Given the description of an element on the screen output the (x, y) to click on. 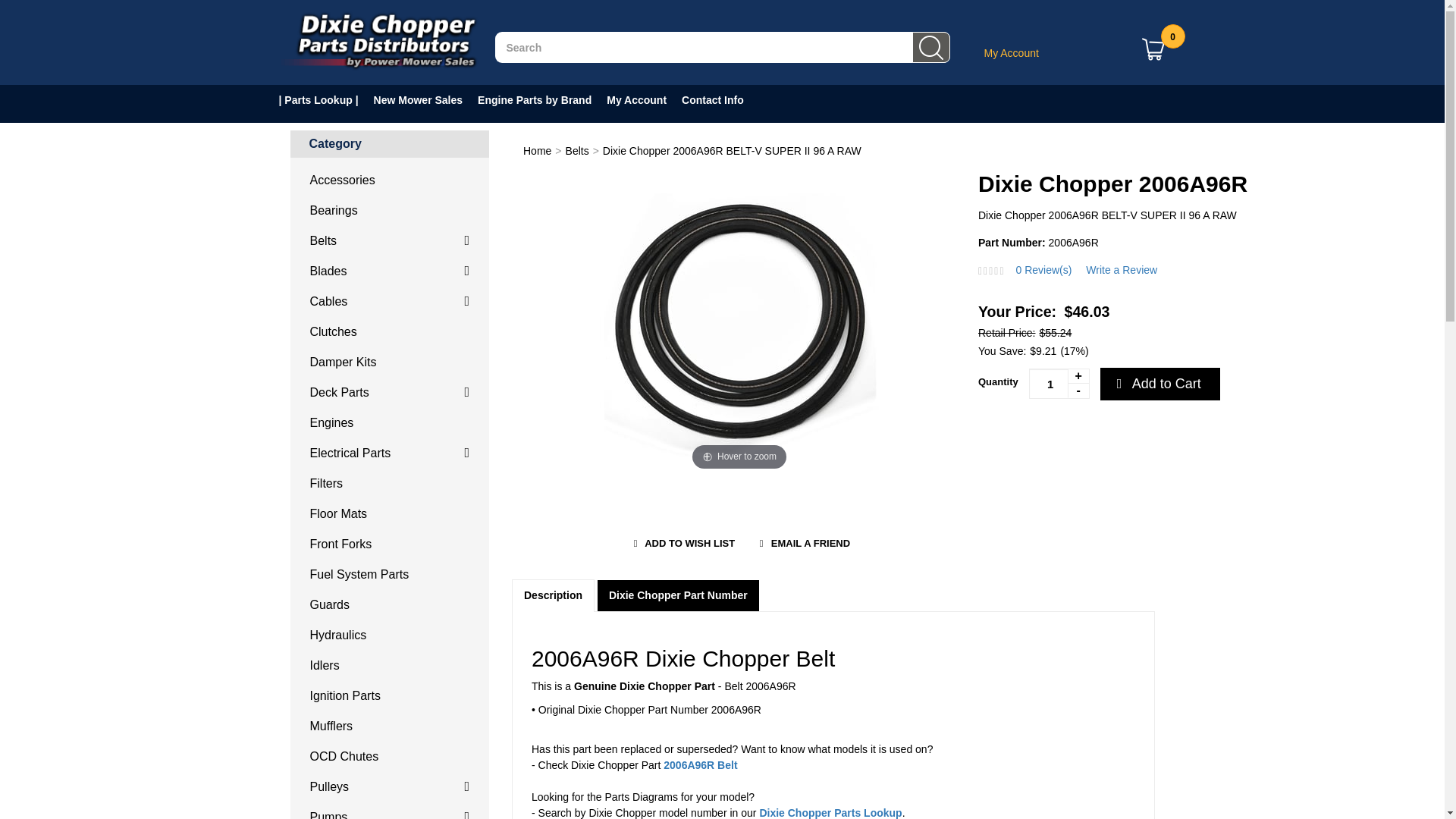
Clutches (389, 331)
Blades (389, 271)
New Mower Sales (426, 100)
Damper Kits (389, 362)
My Account (1011, 52)
Accessories (389, 180)
1 (1059, 383)
Engine Parts by Brand (542, 100)
Cables (389, 301)
My Account (644, 100)
Bearings (389, 210)
Belts (389, 241)
Contact Info (719, 100)
